Given the description of an element on the screen output the (x, y) to click on. 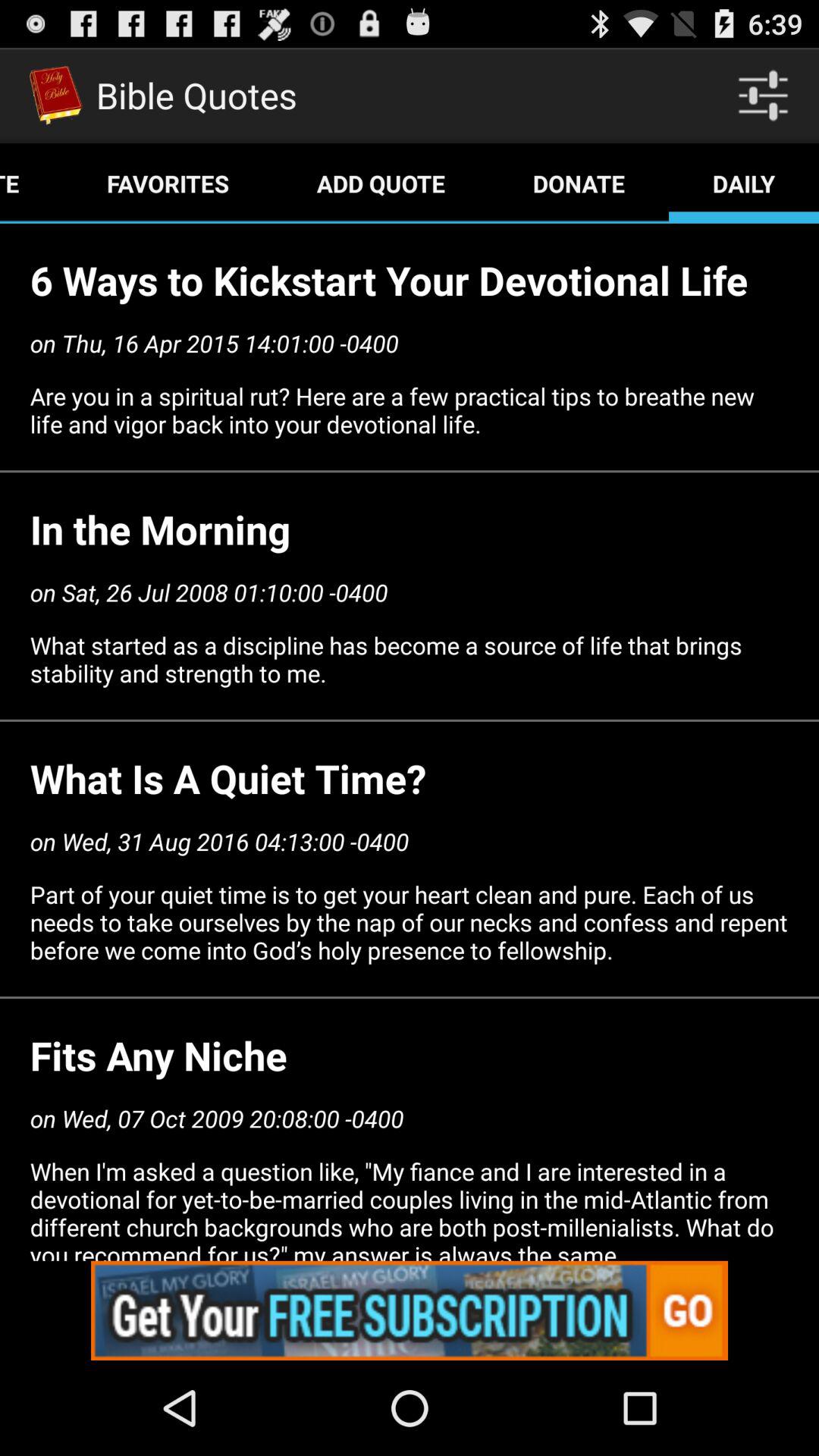
open advertisement (409, 1310)
